Given the description of an element on the screen output the (x, y) to click on. 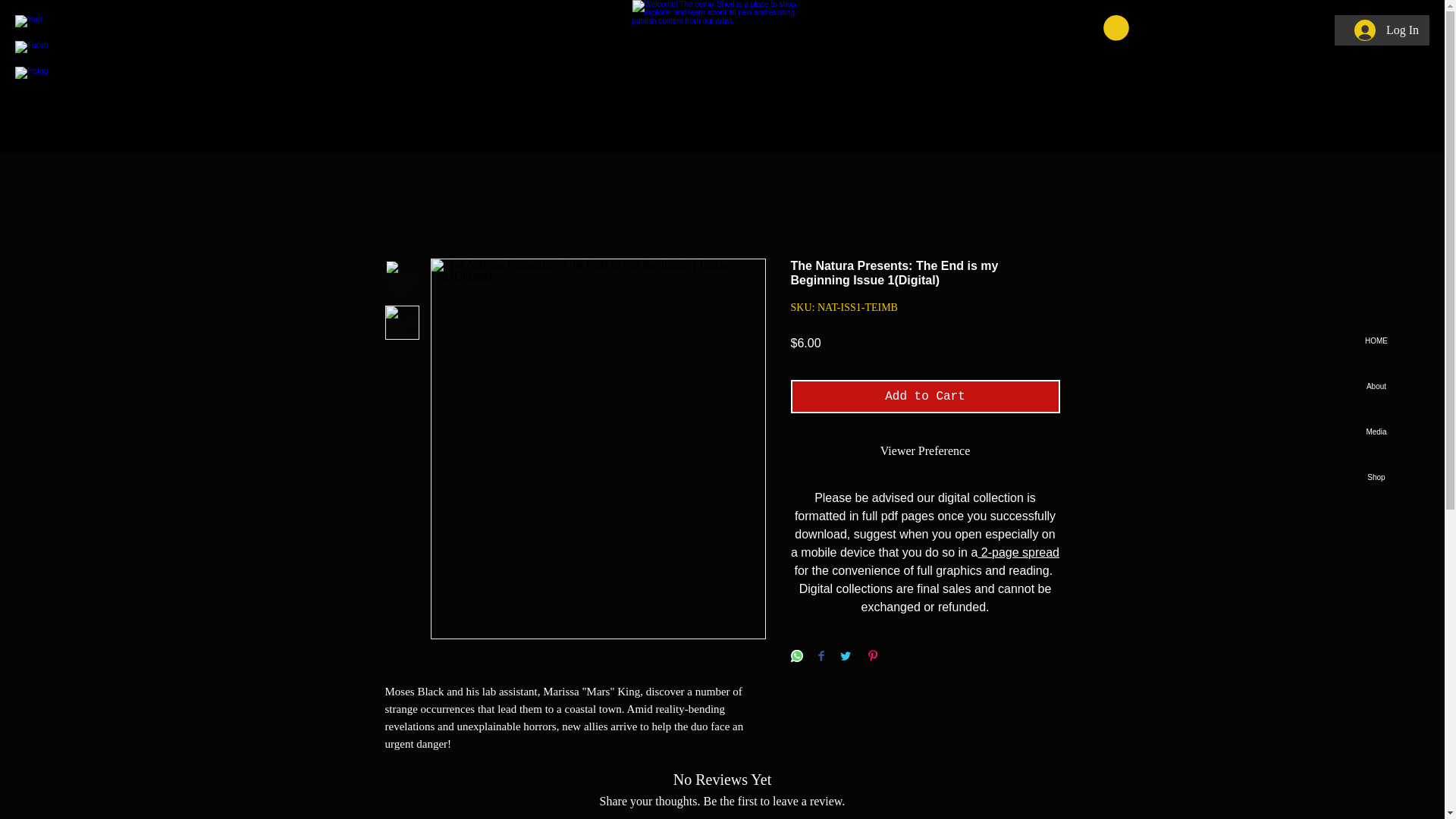
2-page spread (1017, 552)
Use right and left arrows to navigate between tabs (925, 451)
Shop (1376, 477)
Log In (1386, 30)
Add to Cart (924, 396)
Media (1376, 432)
HOME (1376, 340)
About (1376, 386)
